Given the description of an element on the screen output the (x, y) to click on. 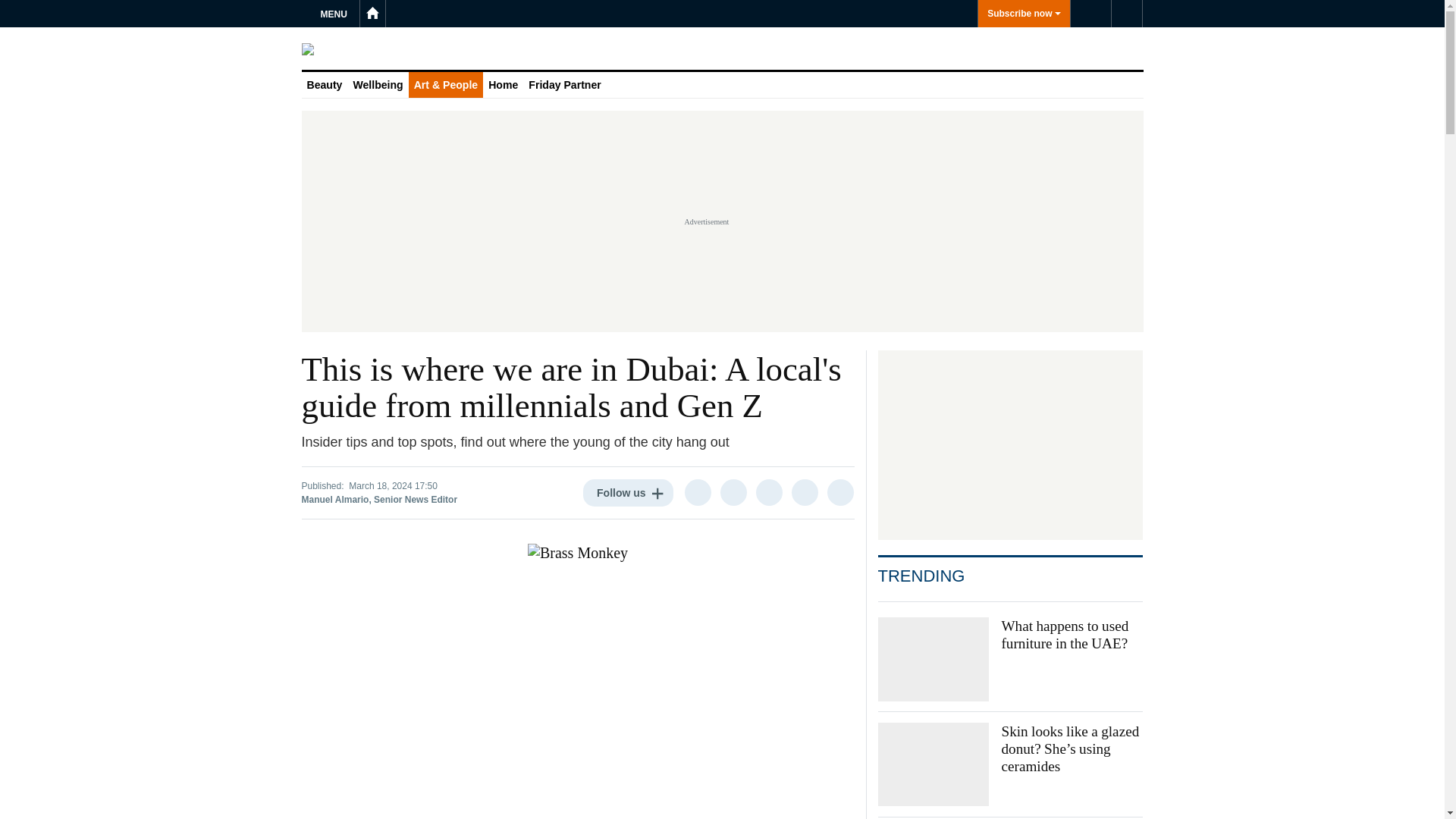
MENU (336, 13)
Subscribe now (1024, 13)
